Given the description of an element on the screen output the (x, y) to click on. 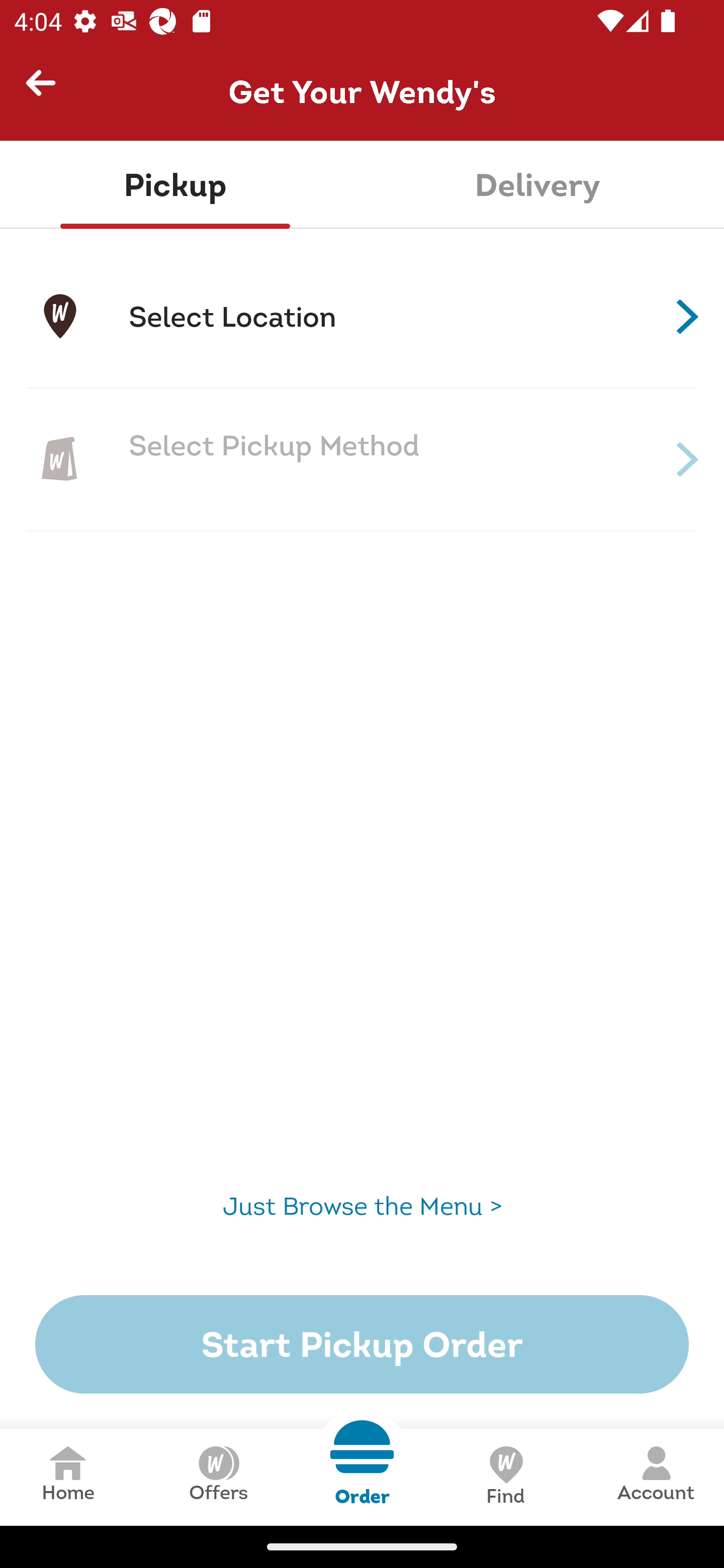
Back (49, 91)
Pickup (175, 184)
Delivery (537, 184)
Select Location (362, 316)
Select Pickup Method (362, 458)
Just Browse the Menu > Just Browse the Menu (362, 1206)
Start Pickup Order (361, 1344)
Order,3 of 5 Order (361, 1463)
Home,1 of 5 Home (68, 1476)
Rewards,2 of 5 Offers Offers (218, 1476)
Scan,4 of 5 Find Find (505, 1476)
Account,5 of 5 Account (655, 1476)
